Given the description of an element on the screen output the (x, y) to click on. 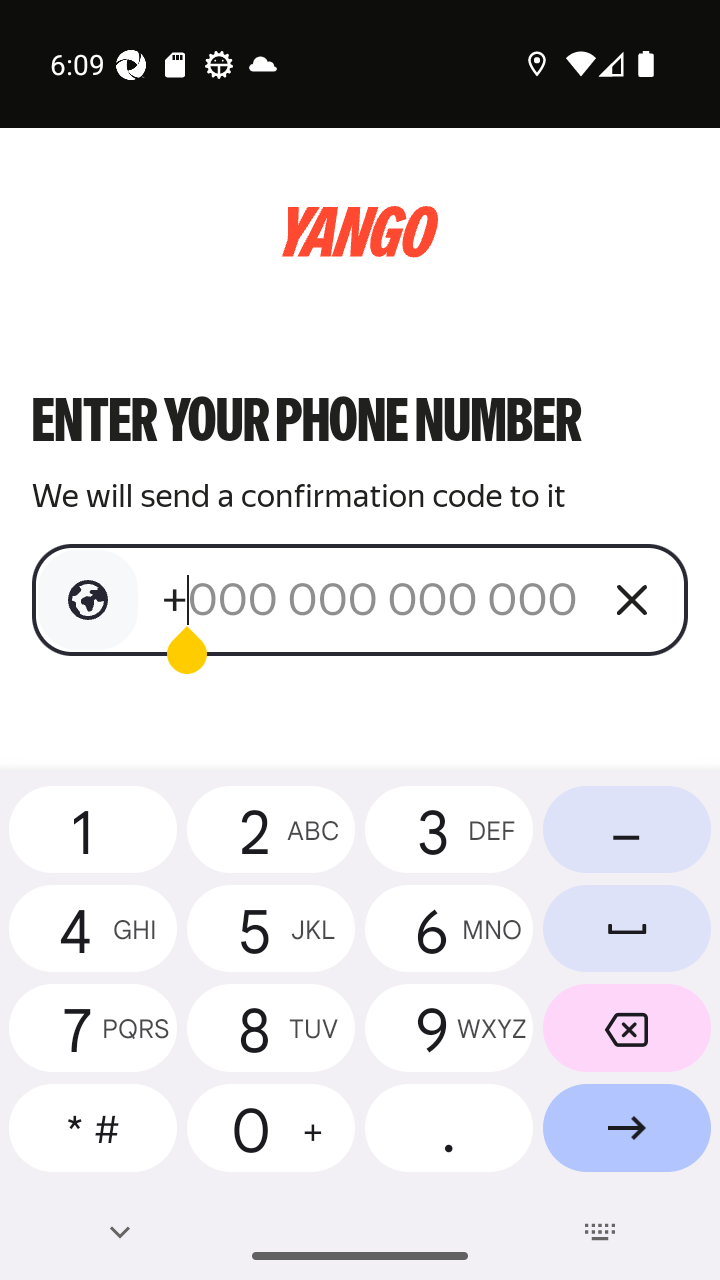
logo (359, 231)
  (88, 600)
+ (372, 599)
